Given the description of an element on the screen output the (x, y) to click on. 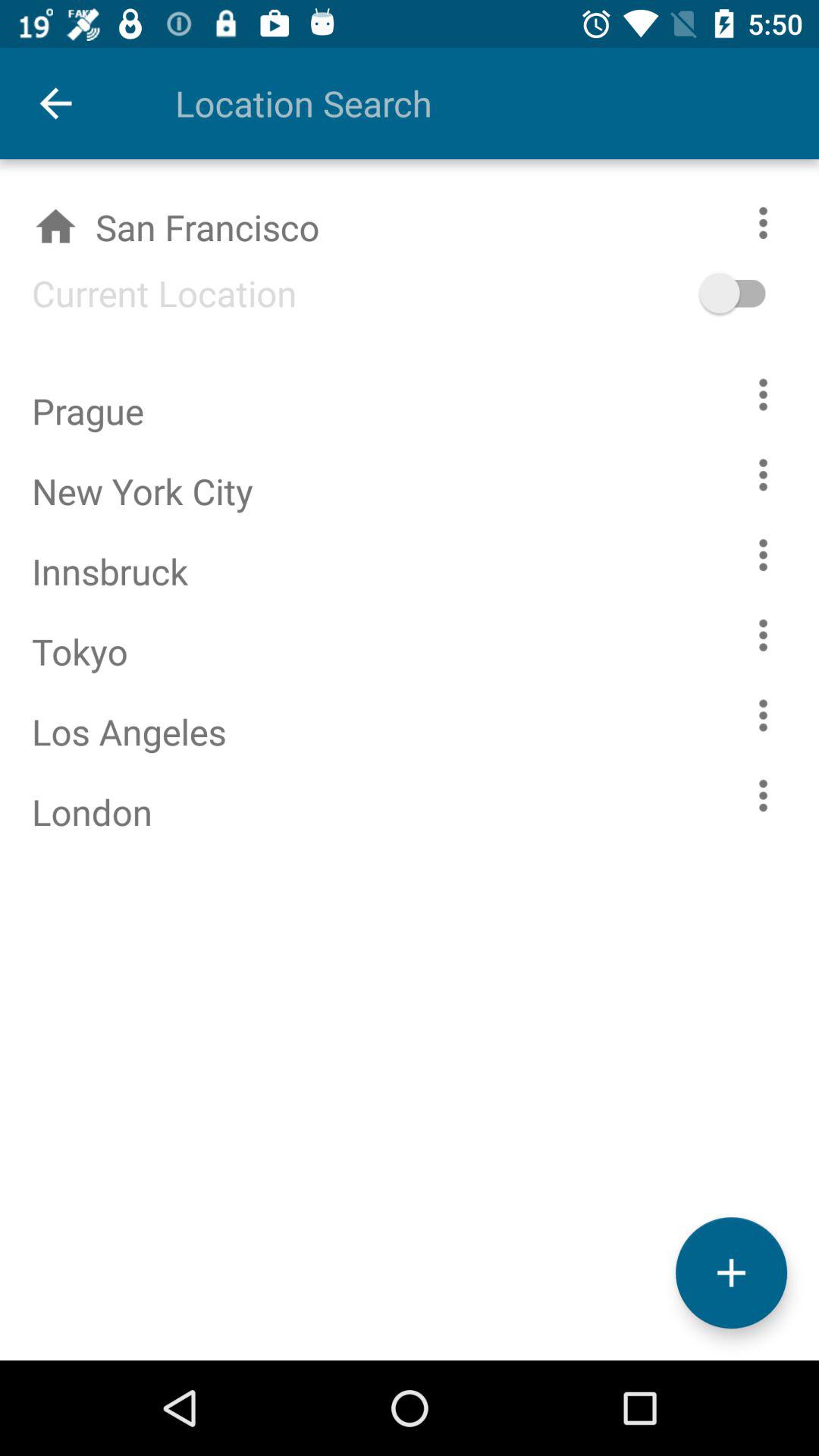
find more options for the innsbruck selection (763, 554)
